Given the description of an element on the screen output the (x, y) to click on. 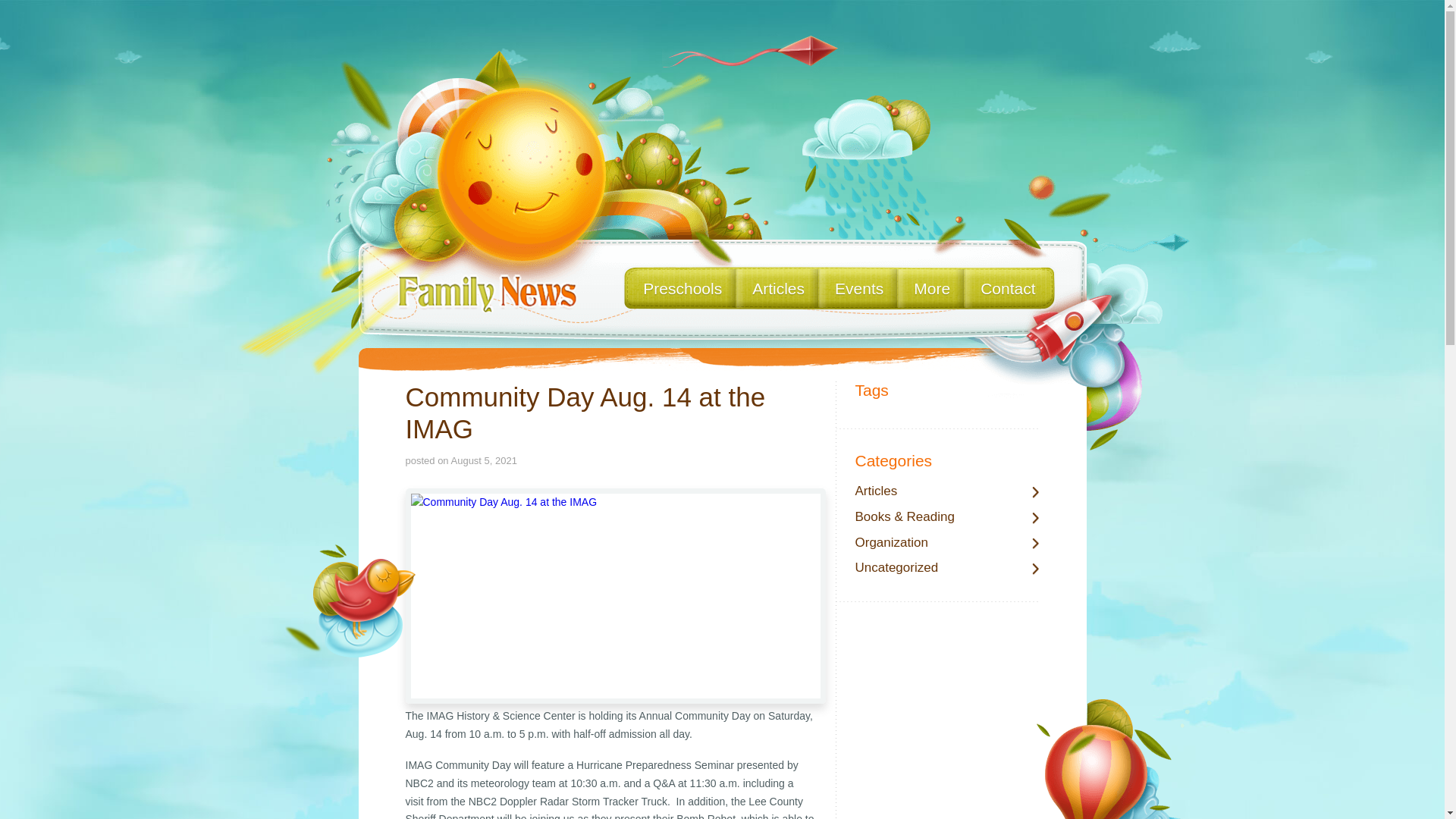
Organization (947, 543)
Preschools (682, 288)
Contact (1007, 288)
Articles (947, 491)
Articles (778, 288)
Uncategorized (947, 568)
Events (858, 288)
